Given the description of an element on the screen output the (x, y) to click on. 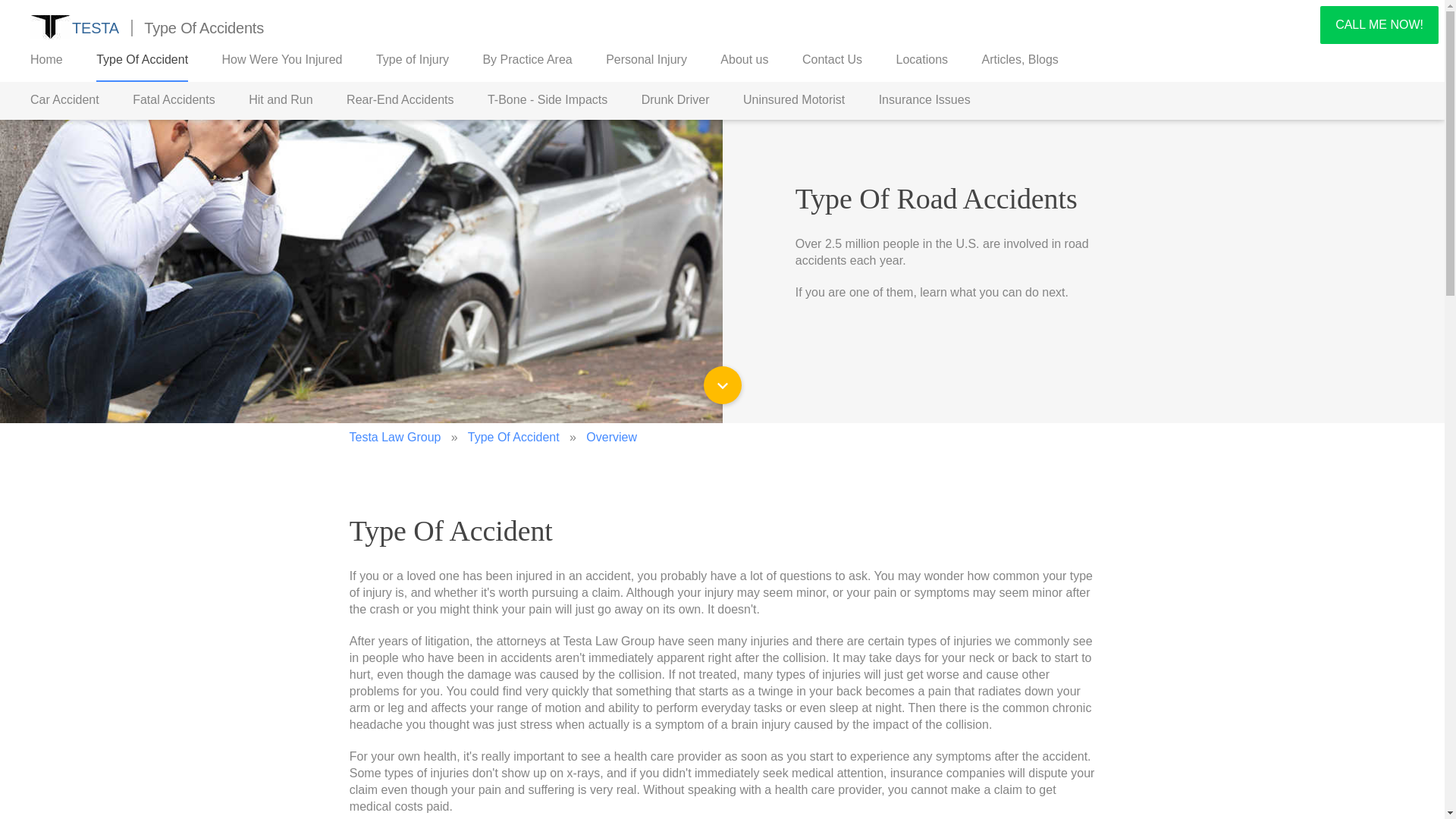
Testa Law Group (395, 436)
Locations (922, 59)
How Were You Injured (282, 59)
CALL ME NOW! (1379, 24)
Type Of Accident (513, 436)
Uninsured Motorist (793, 99)
Hit and Run (280, 99)
TESTA Type Of Accidents (148, 28)
Rear-End Accidents (399, 99)
Drunk Driver (676, 99)
Home (46, 59)
Contact Us (831, 59)
T-Bone - Side Impacts (547, 99)
About us (744, 59)
Type Of Accident (141, 59)
